Given the description of an element on the screen output the (x, y) to click on. 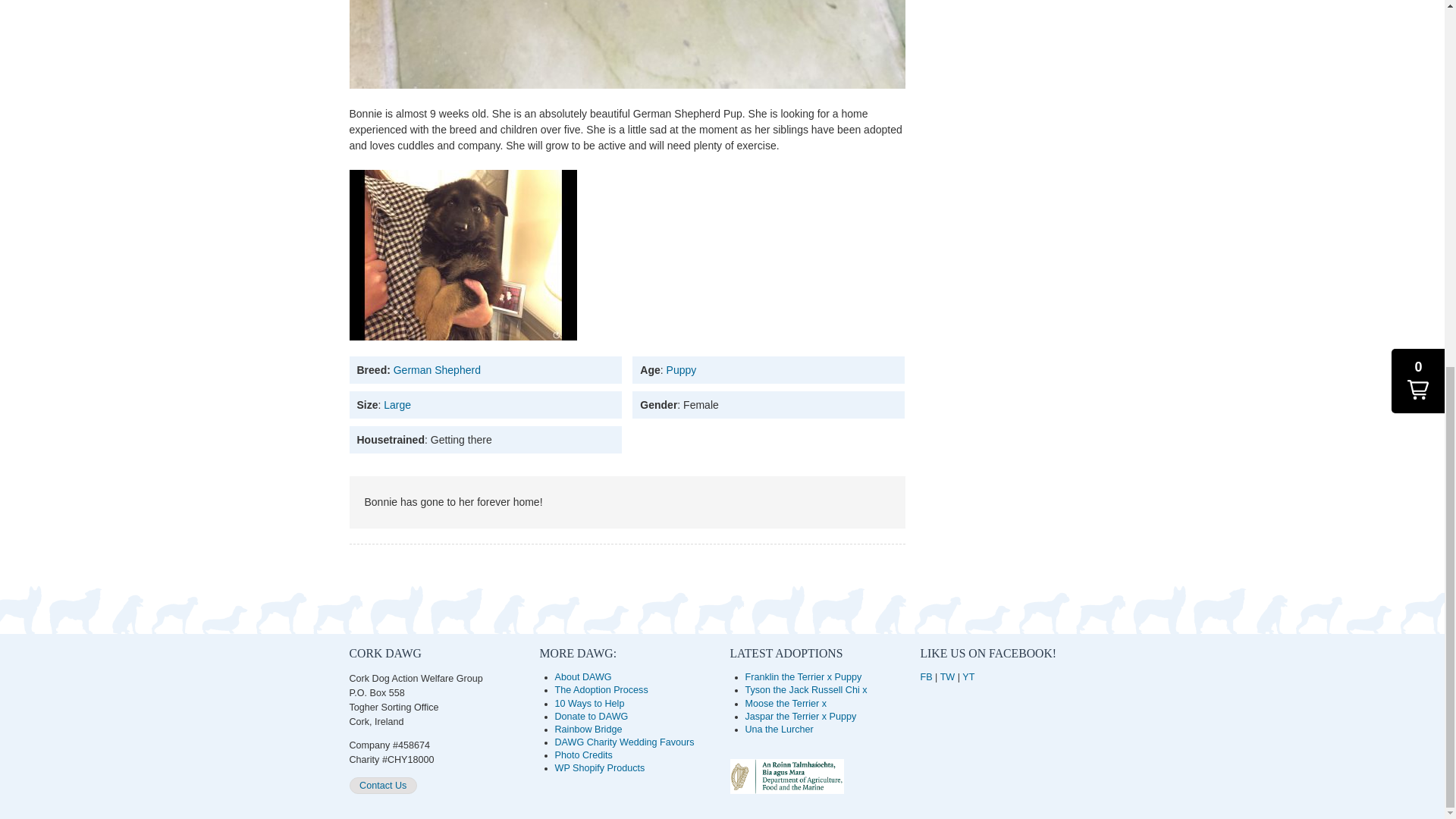
German Shepherd (436, 369)
The Adoption Process (600, 689)
Donate to DAWG (591, 716)
Rainbow Bridge (588, 728)
DAWG Charity Wedding Favours (624, 742)
Large (397, 404)
Puppy (681, 369)
Photo Credits (583, 755)
Contact Us (382, 785)
10 Ways to Help (589, 703)
About DAWG (582, 676)
